Given the description of an element on the screen output the (x, y) to click on. 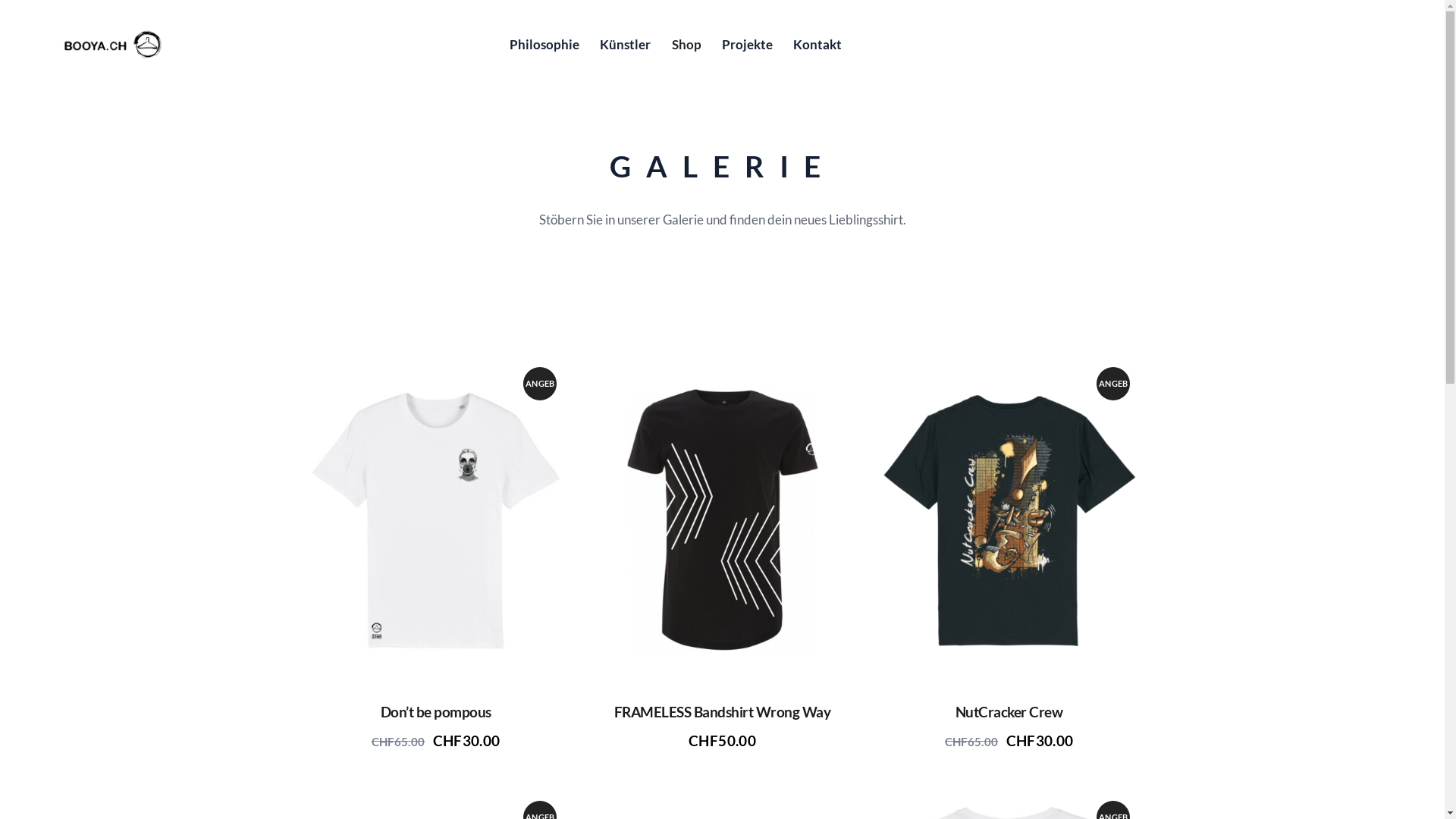
Projekte Element type: text (746, 44)
Philosophie Element type: text (544, 44)
FRAMELESS Bandshirt Wrong Way Element type: text (721, 711)
ANGEBOT! Element type: text (434, 520)
NutCracker Crew Element type: text (1008, 711)
ANGEBOT! Element type: text (1008, 520)
Kontakt Element type: text (816, 44)
Shop Element type: text (686, 44)
